Given the description of an element on the screen output the (x, y) to click on. 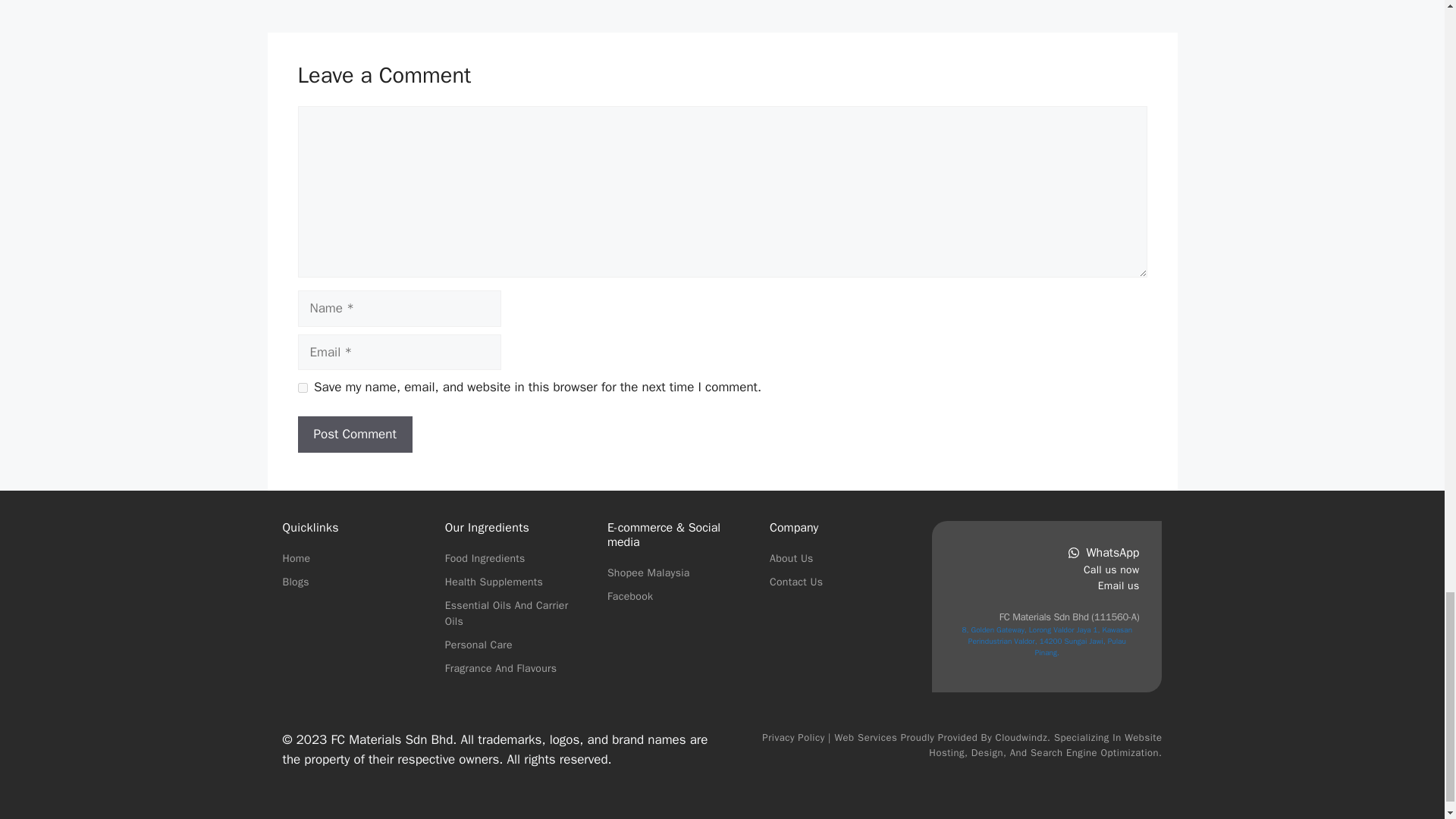
Food (458, 558)
Essential Oils And Carrier Oils (507, 613)
Post Comment (354, 434)
Blogs (295, 581)
yes (302, 388)
Health Supplements (494, 581)
Home (296, 558)
Post Comment (354, 434)
Ingredients (498, 558)
